Given the description of an element on the screen output the (x, y) to click on. 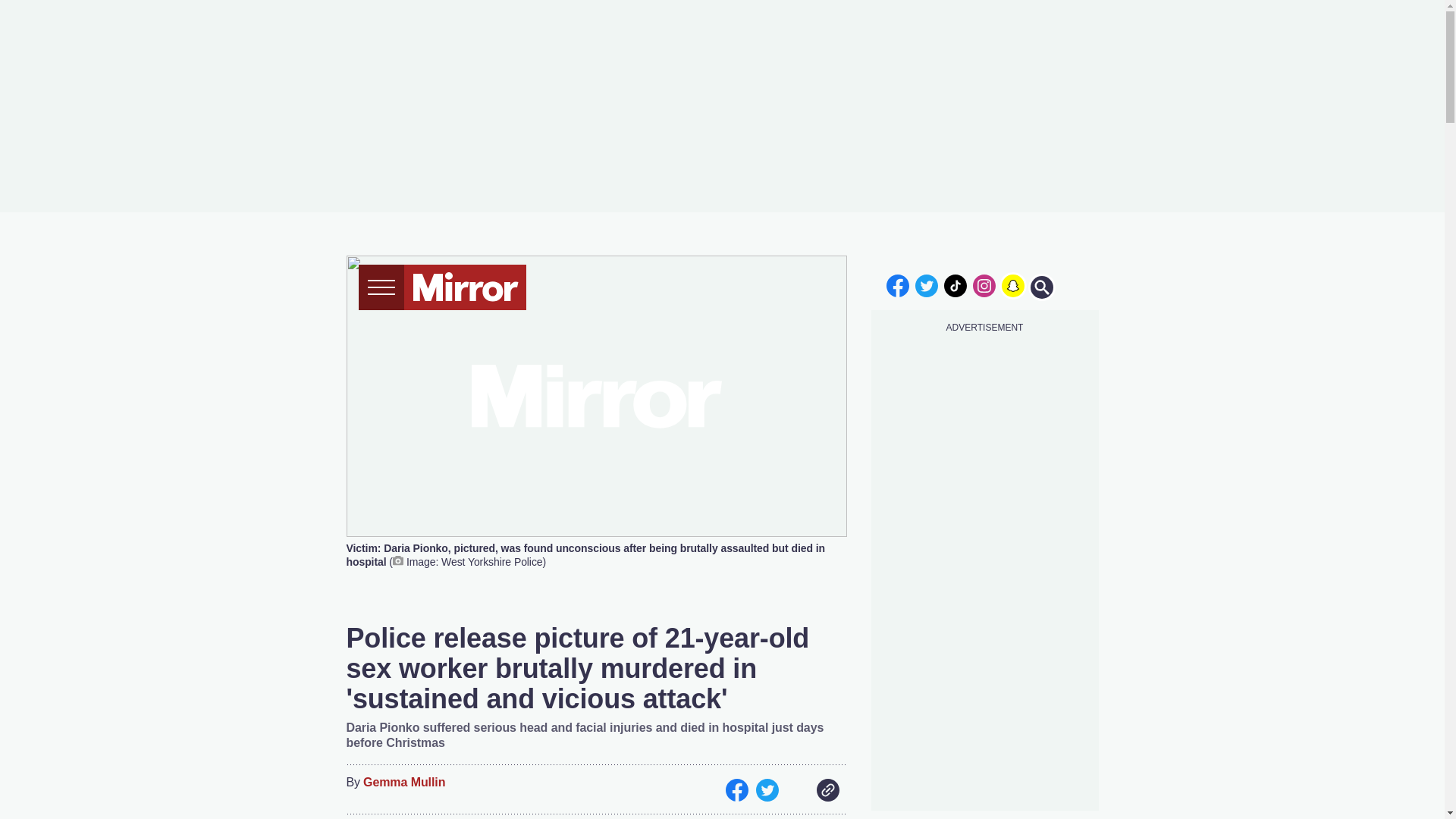
instagram (984, 285)
snapchat (1012, 285)
twitter (926, 285)
Whatsapp (797, 789)
tiktok (955, 285)
facebook (897, 285)
Twitter (766, 789)
Gemma Mullin (403, 782)
Facebook (736, 789)
